Given the description of an element on the screen output the (x, y) to click on. 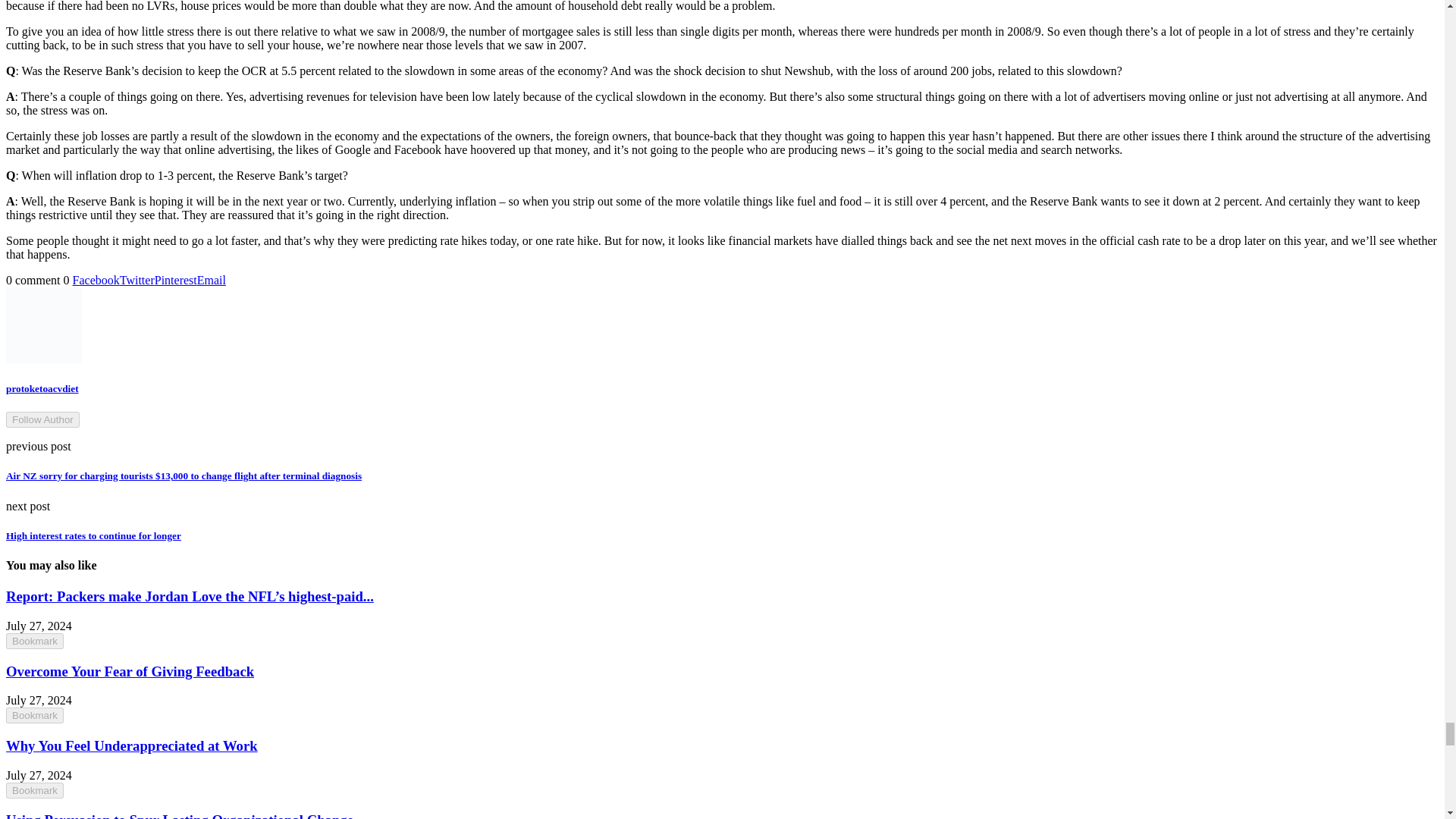
Author protoketoacvdiet (41, 388)
